Given the description of an element on the screen output the (x, y) to click on. 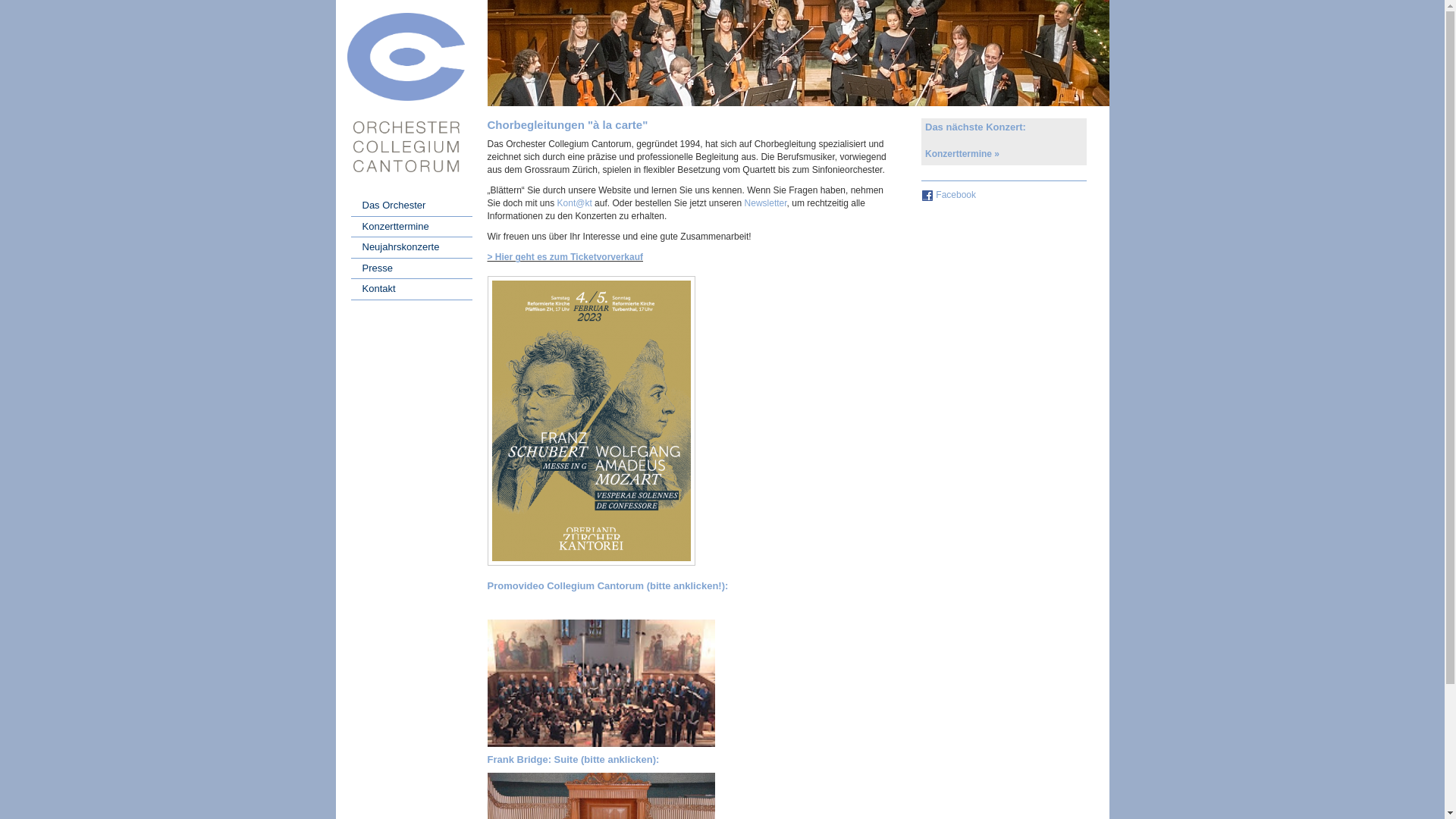
Newsletter Element type: text (765, 202)
Kont@kt Element type: text (574, 202)
Facebook Element type: text (955, 194)
Kontakt Element type: text (410, 289)
Neujahrskonzerte Element type: text (410, 247)
Konzerttermine Element type: text (410, 227)
Das Orchester Element type: text (410, 205)
> Hier geht es zum Ticketvorverkauf Element type: text (564, 256)
Presse Element type: text (410, 268)
